Given the description of an element on the screen output the (x, y) to click on. 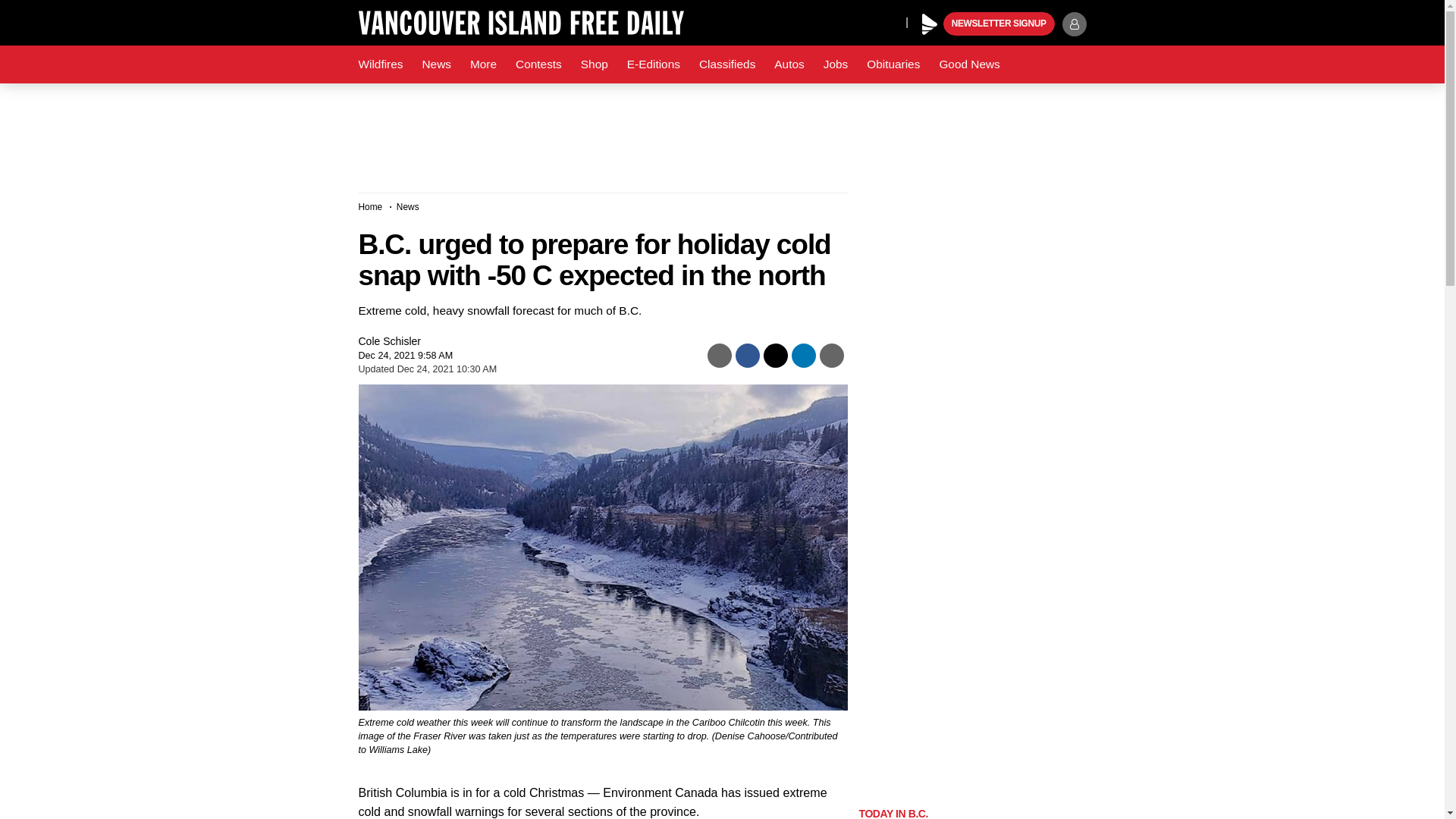
Black Press Media (929, 24)
NEWSLETTER SIGNUP (998, 24)
X (853, 21)
Wildfires (380, 64)
Instagram (889, 21)
News (435, 64)
Facebook (823, 21)
Play (929, 24)
